Given the description of an element on the screen output the (x, y) to click on. 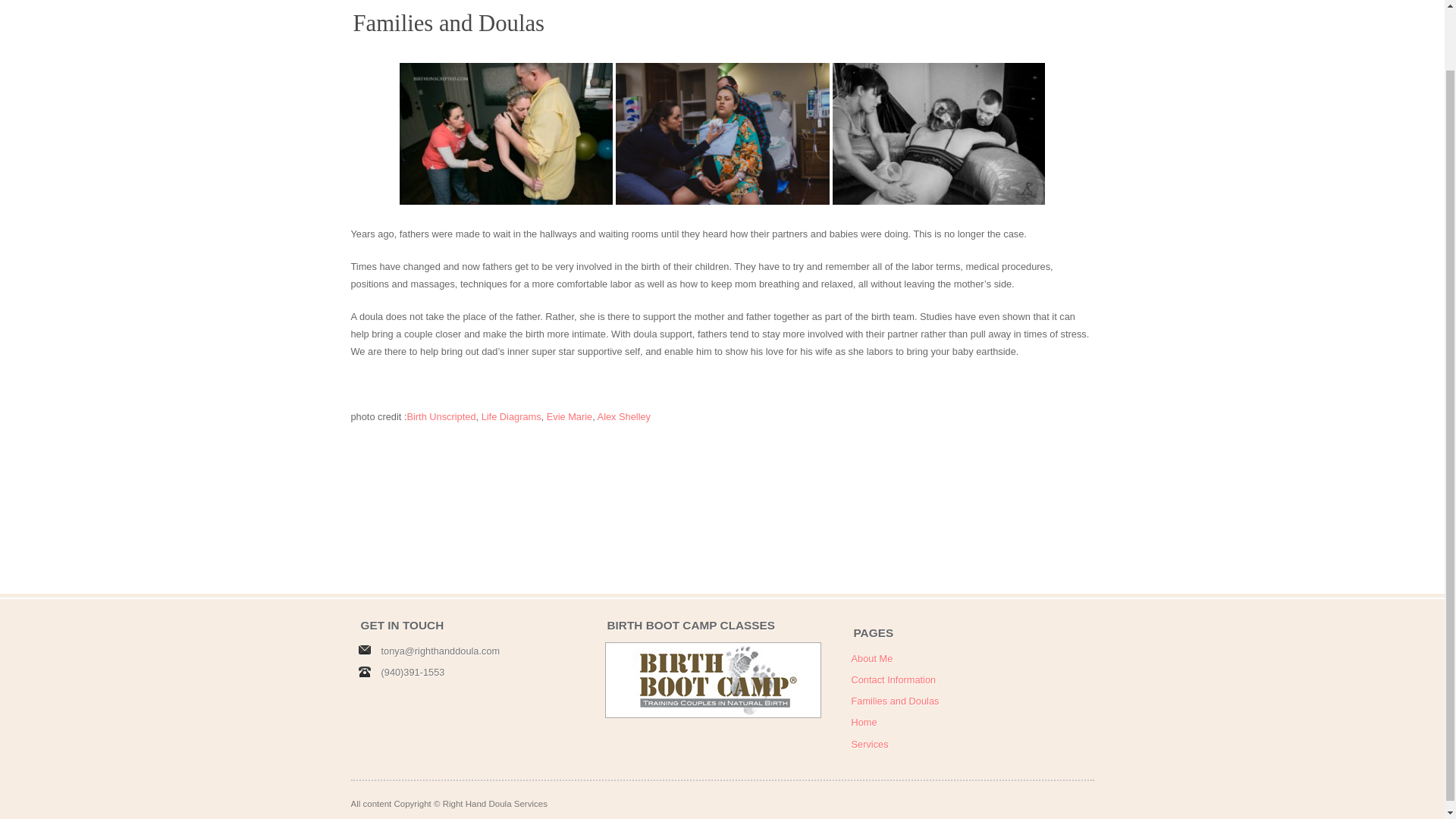
Contact Information (893, 679)
About Me (871, 658)
Services (869, 744)
Birth Unscripted (441, 416)
Life Diagrams (511, 416)
Families and Doulas (894, 700)
Home (863, 722)
Alex Shelley (623, 416)
Evie Marie (569, 416)
